Given the description of an element on the screen output the (x, y) to click on. 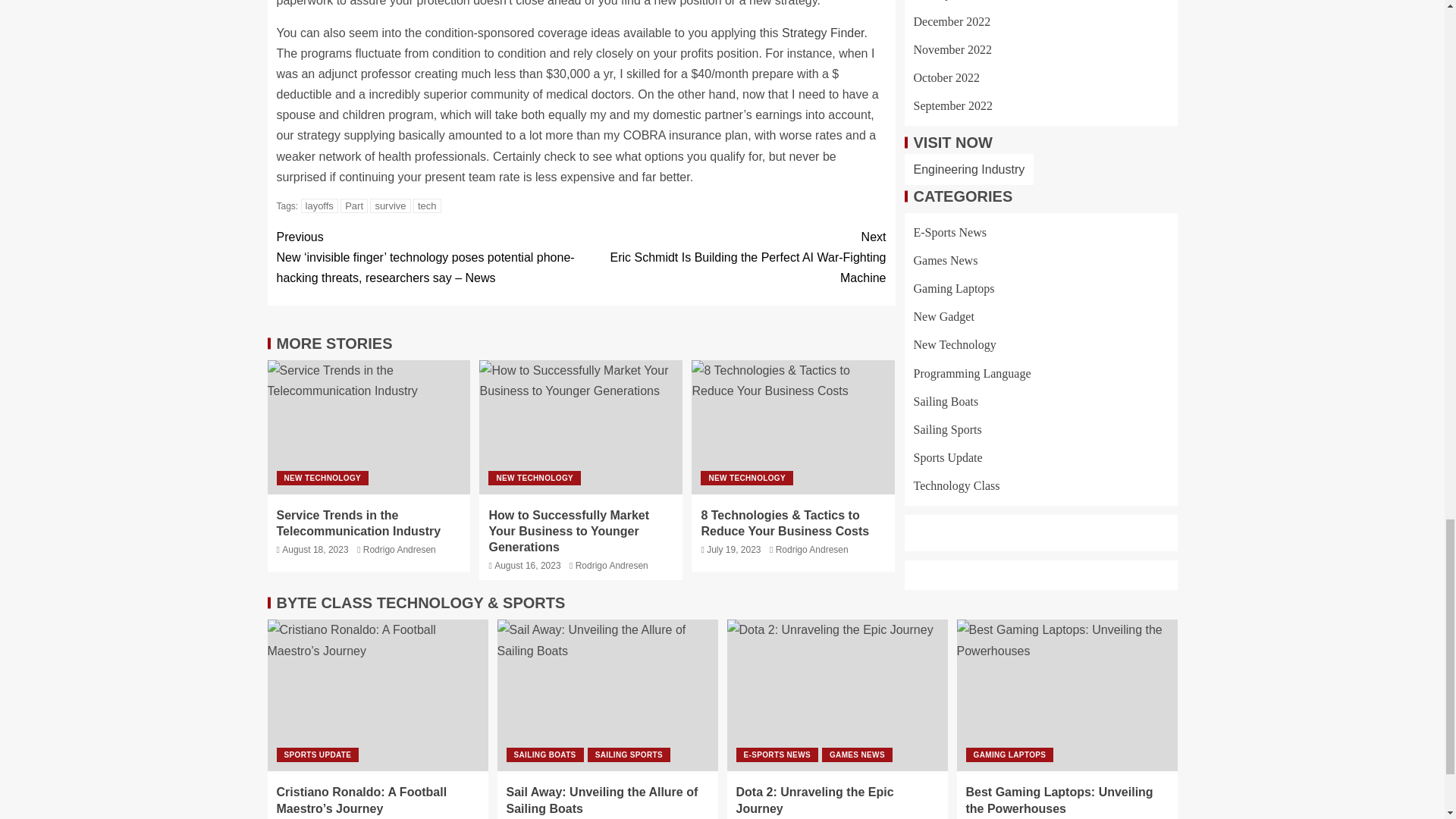
layoffs (319, 205)
Part (354, 205)
Service Trends in the Telecommunication Industry (358, 522)
Best Gaming Laptops: Unveiling the Powerhouses (1066, 695)
Strategy Finder (822, 32)
Sail Away: Unveiling the Allure of Sailing Boats (607, 695)
NEW TECHNOLOGY (322, 477)
Rodrigo Andresen (398, 549)
Dota 2: Unraveling the Epic Journey (836, 695)
tech (427, 205)
survive (389, 205)
Service Trends in the Telecommunication Industry (368, 427)
